Given the description of an element on the screen output the (x, y) to click on. 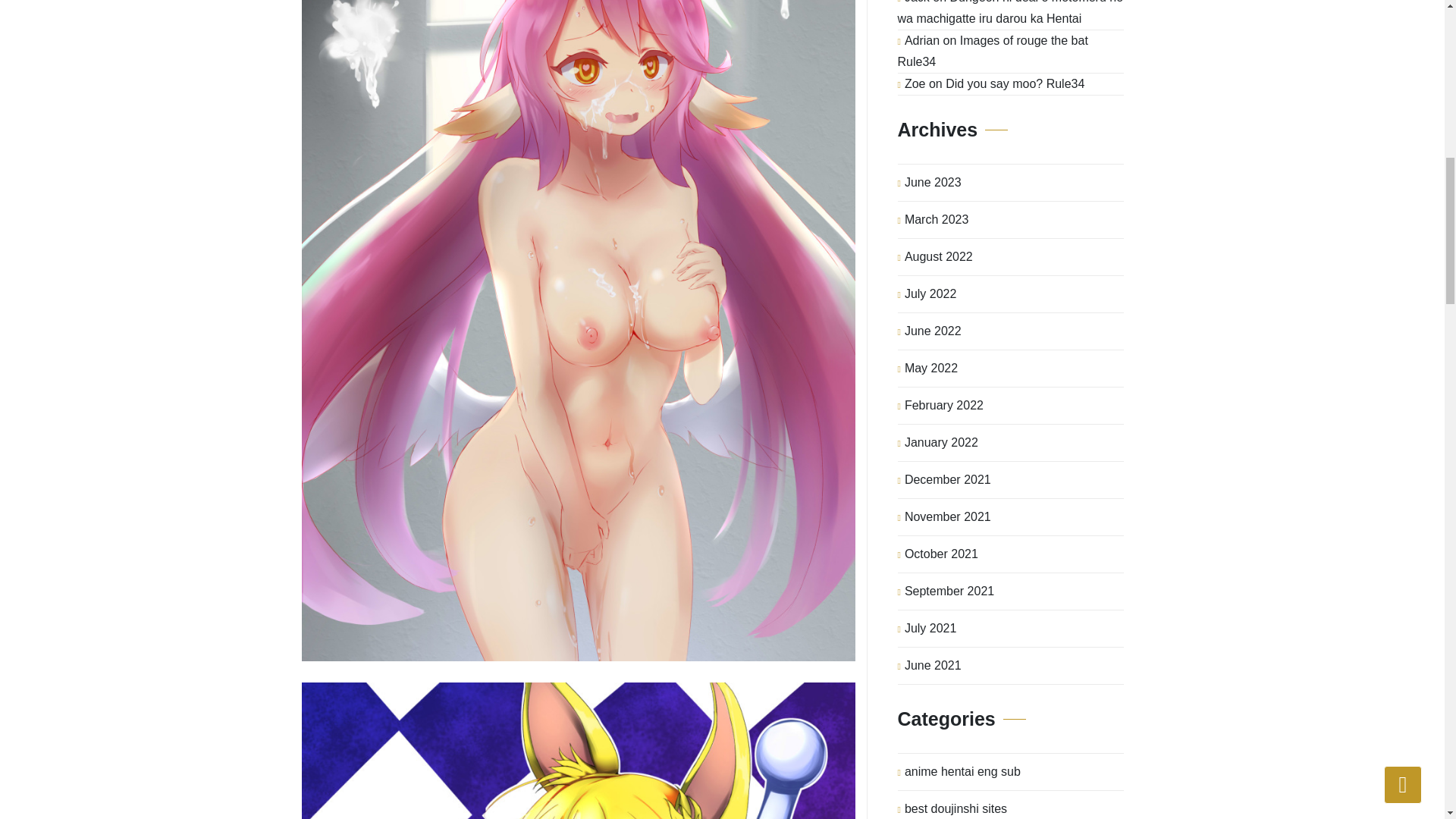
June 2023 (932, 182)
June 2022 (932, 330)
February 2022 (944, 405)
July 2022 (930, 294)
Images of rouge the bat Rule34 (992, 50)
June 2021 (932, 665)
September 2021 (949, 591)
December 2021 (947, 479)
Did you say moo? Rule34 (1014, 83)
anime hentai eng sub (962, 771)
